Given the description of an element on the screen output the (x, y) to click on. 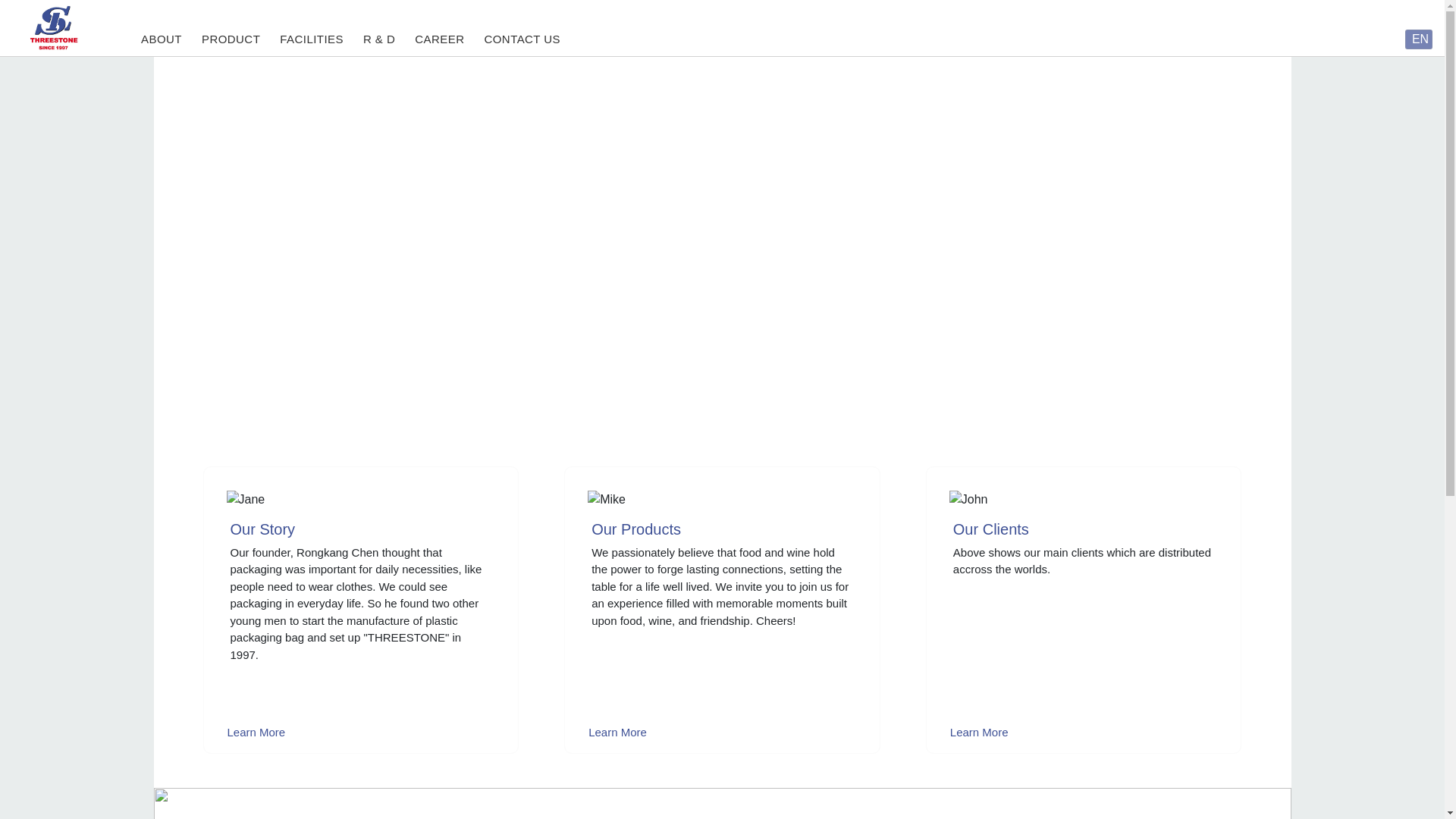
Learn More (978, 732)
CAREER (439, 39)
CONTACT US (521, 39)
FACILITIES (311, 39)
Learn More (616, 732)
ABOUT (161, 39)
PRODUCT (230, 39)
Learn More (255, 732)
